Given the description of an element on the screen output the (x, y) to click on. 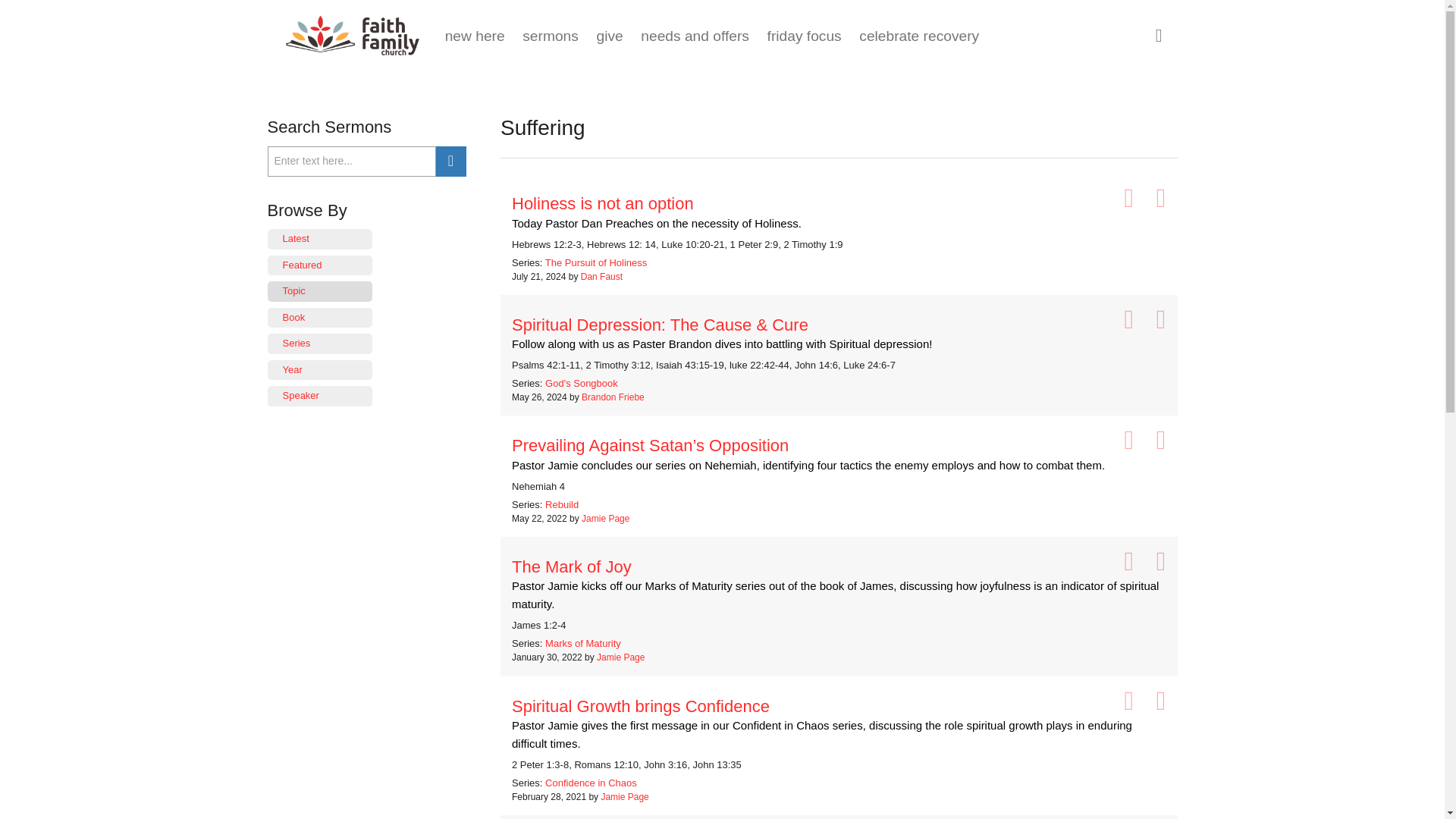
Speaker (319, 395)
sermons (550, 35)
needs and offers (694, 35)
new here (475, 35)
Book (319, 317)
Holiness is not an option (839, 203)
celebrate recovery (918, 35)
Dan Faust (601, 276)
Year (319, 370)
friday focus (804, 35)
